Given the description of an element on the screen output the (x, y) to click on. 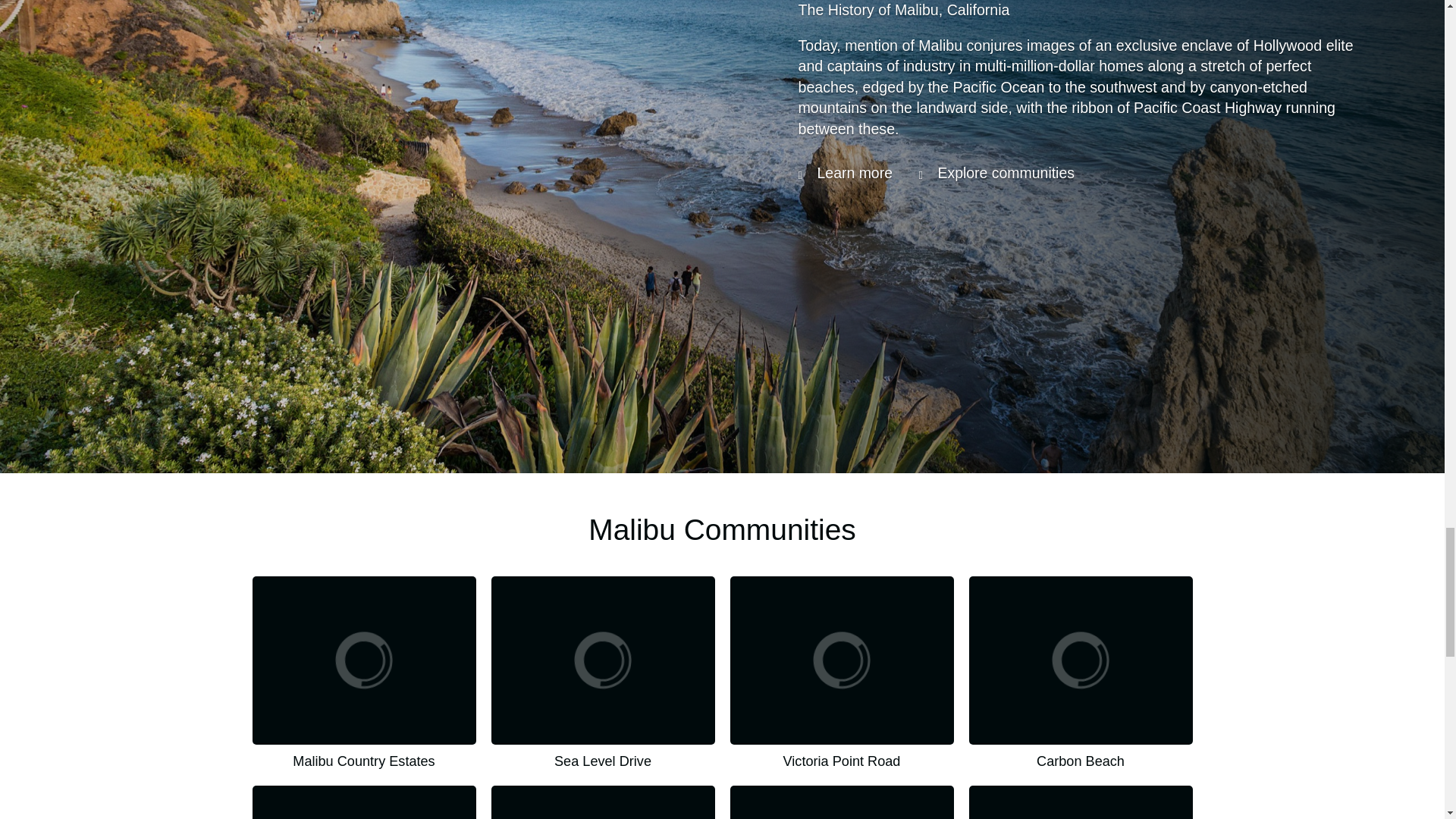
Malibu Country Estates (363, 672)
Sea Level Drive (603, 672)
Victoria Point Road (841, 672)
Learn more (844, 173)
Big Rock (841, 802)
Malibu Colony (363, 802)
Explore communities (996, 173)
Bonsall Drive (1080, 802)
Carbon Beach (1080, 672)
Latigo Shore Drive (603, 802)
